Given the description of an element on the screen output the (x, y) to click on. 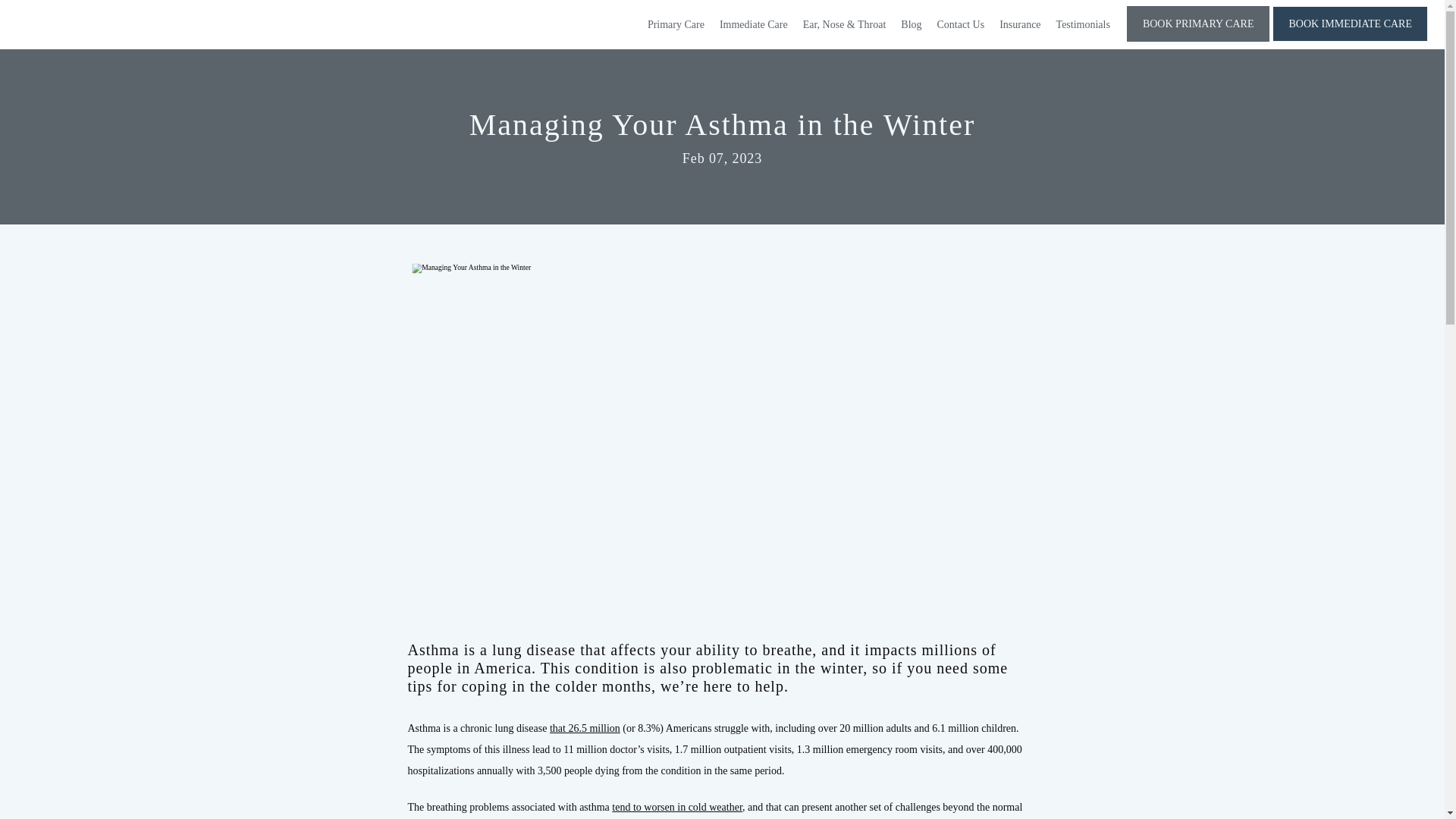
Contact Us (961, 24)
Testimonials (1083, 24)
Insurance (1019, 24)
BOOK PRIMARY CARE (1198, 40)
tend to worsen in cold weather (676, 807)
Primary Care (675, 24)
that 26.5 million (585, 727)
Blog (911, 24)
BOOK IMMEDIATE CARE (1350, 40)
Immediate Care (753, 24)
